Given the description of an element on the screen output the (x, y) to click on. 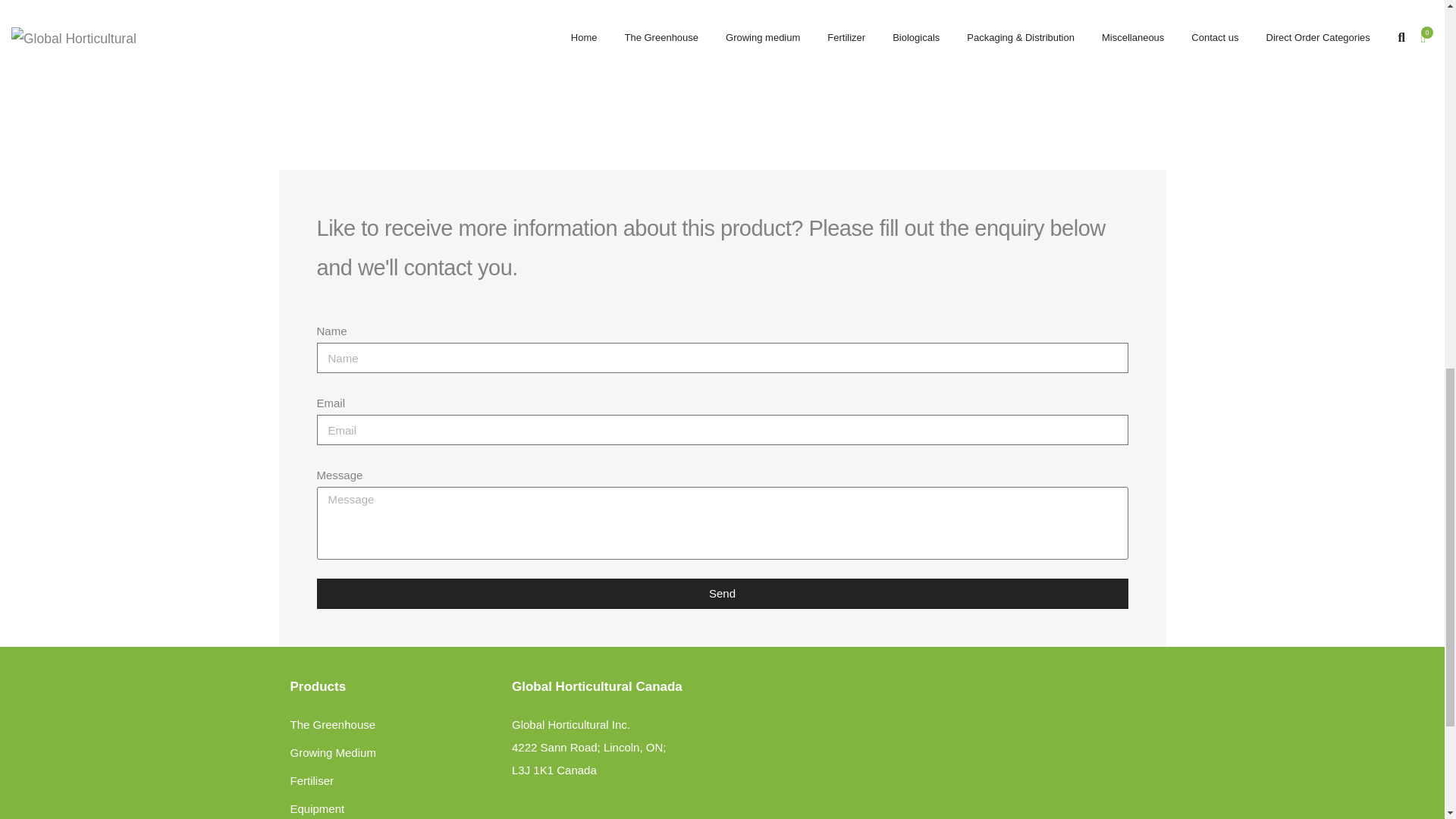
Send (722, 593)
Growing Medium (332, 752)
The Greenhouse (332, 724)
